Given the description of an element on the screen output the (x, y) to click on. 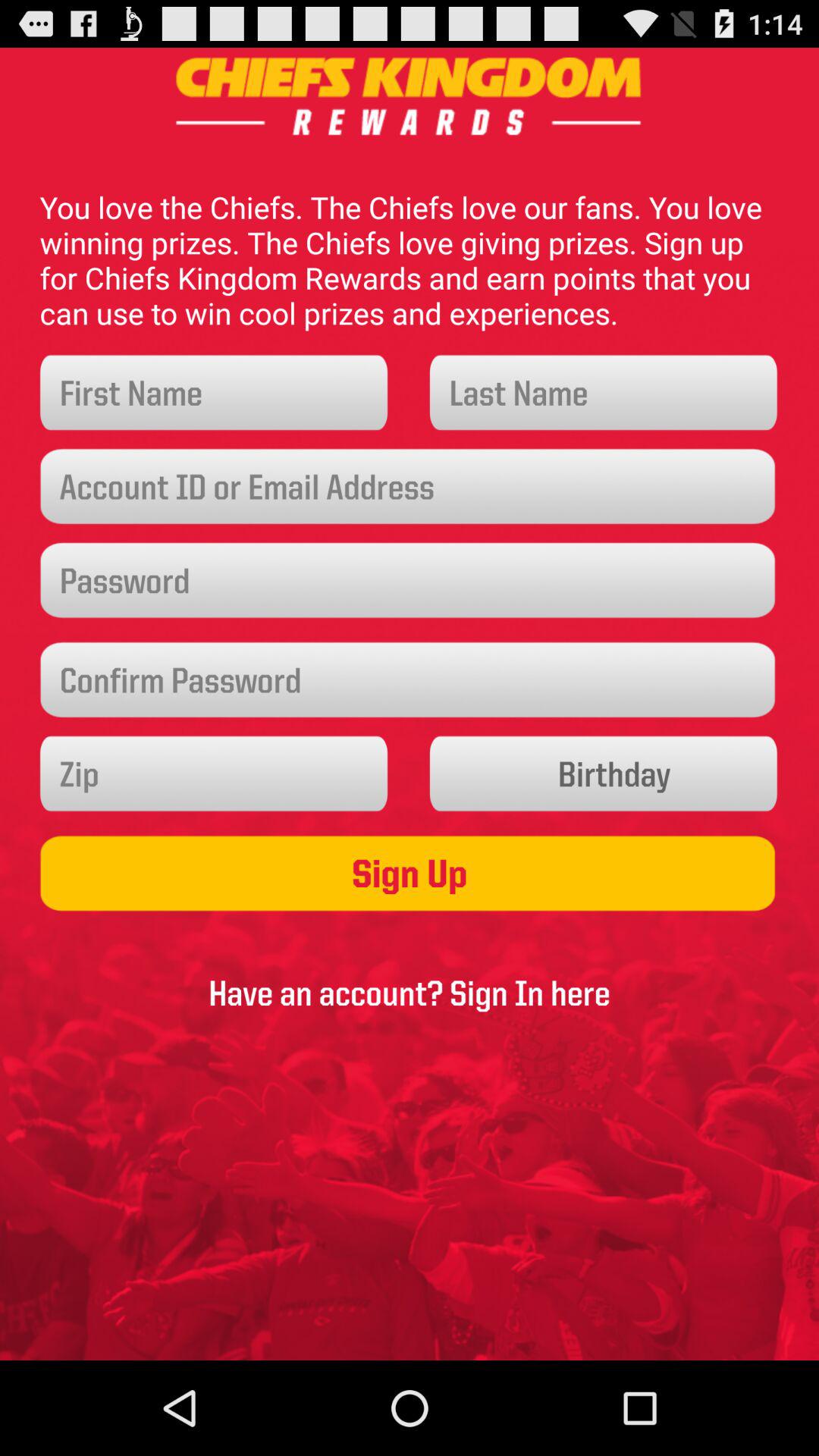
password confirmation field (409, 680)
